Given the description of an element on the screen output the (x, y) to click on. 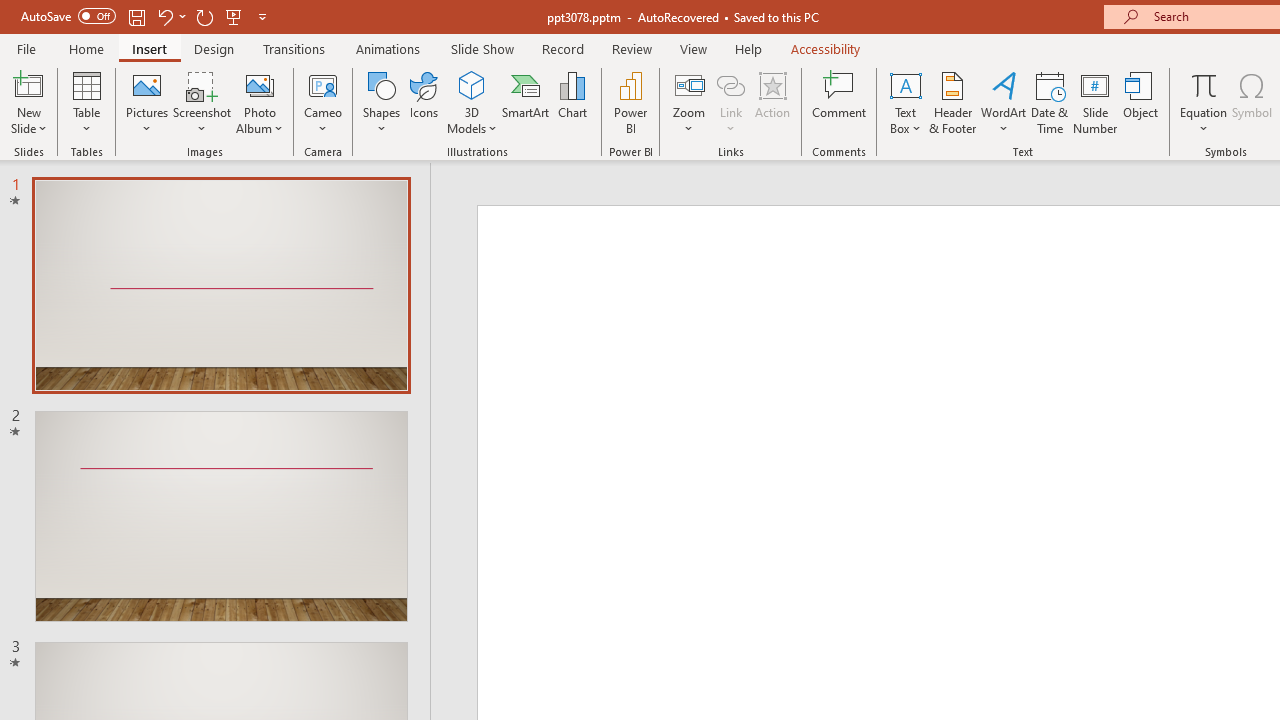
Equation (1203, 84)
Link (731, 102)
Object... (1141, 102)
WordArt (1004, 102)
Symbol... (1252, 102)
